Given the description of an element on the screen output the (x, y) to click on. 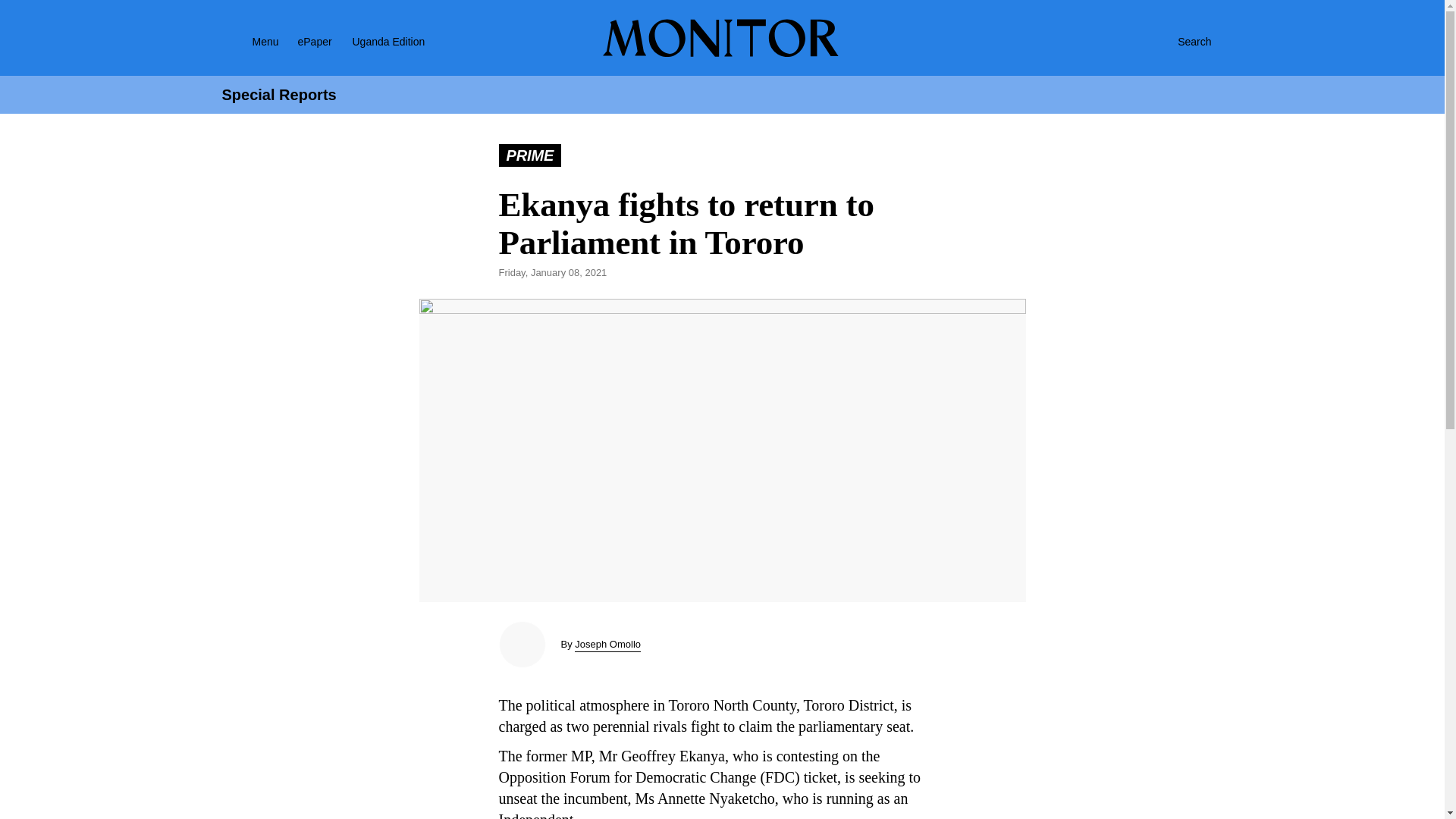
Uganda Edition (401, 41)
ePaper (314, 41)
Special Reports (278, 94)
Search (1178, 41)
Menu (246, 41)
